Given the description of an element on the screen output the (x, y) to click on. 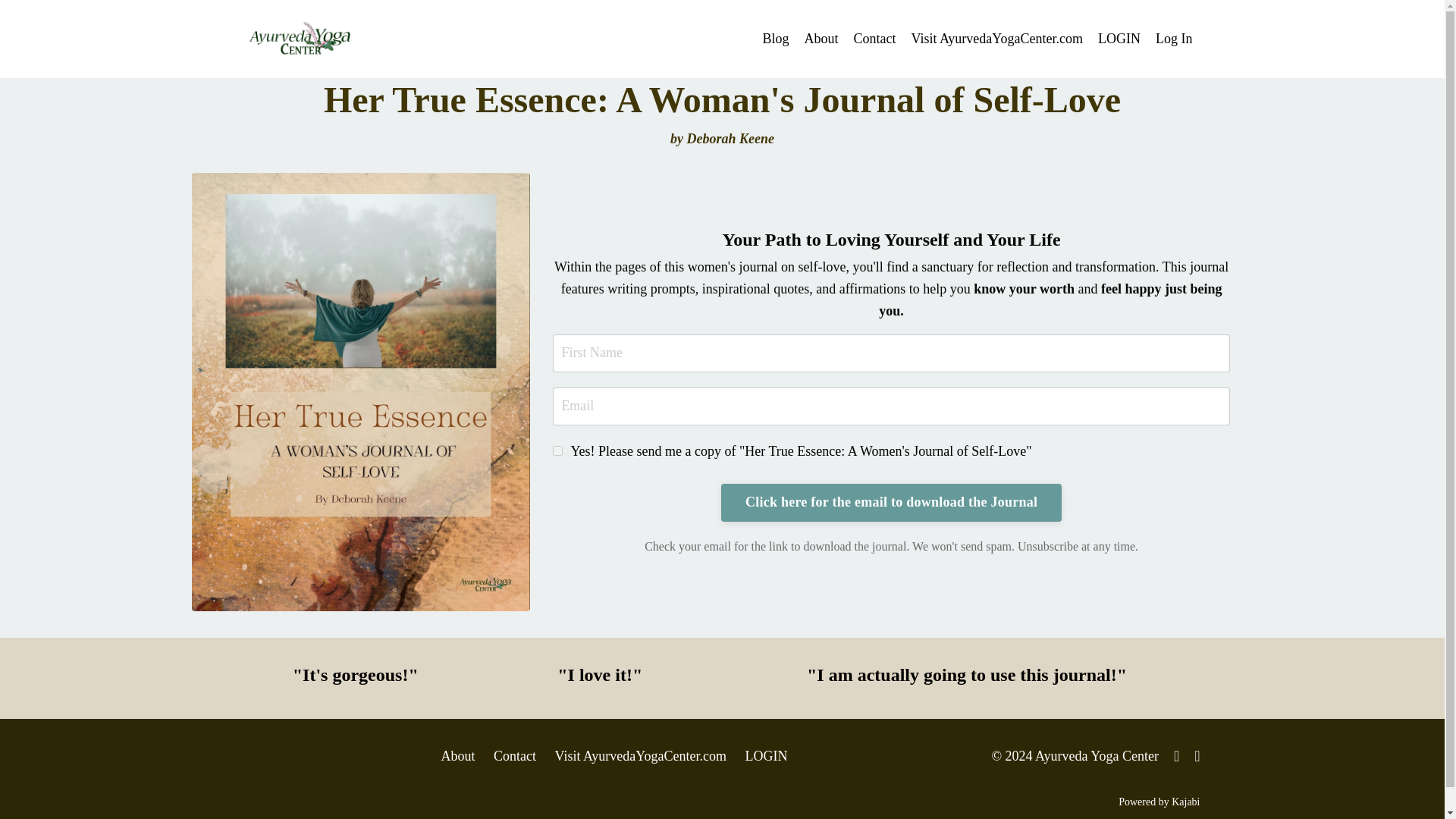
1 (557, 450)
LOGIN (765, 755)
Contact (874, 38)
Contact (514, 755)
Log In (1174, 38)
About (457, 755)
Visit AyurvedaYogaCenter.com (639, 755)
Powered by Kajabi (1158, 801)
Blog (775, 38)
About (821, 38)
